Given the description of an element on the screen output the (x, y) to click on. 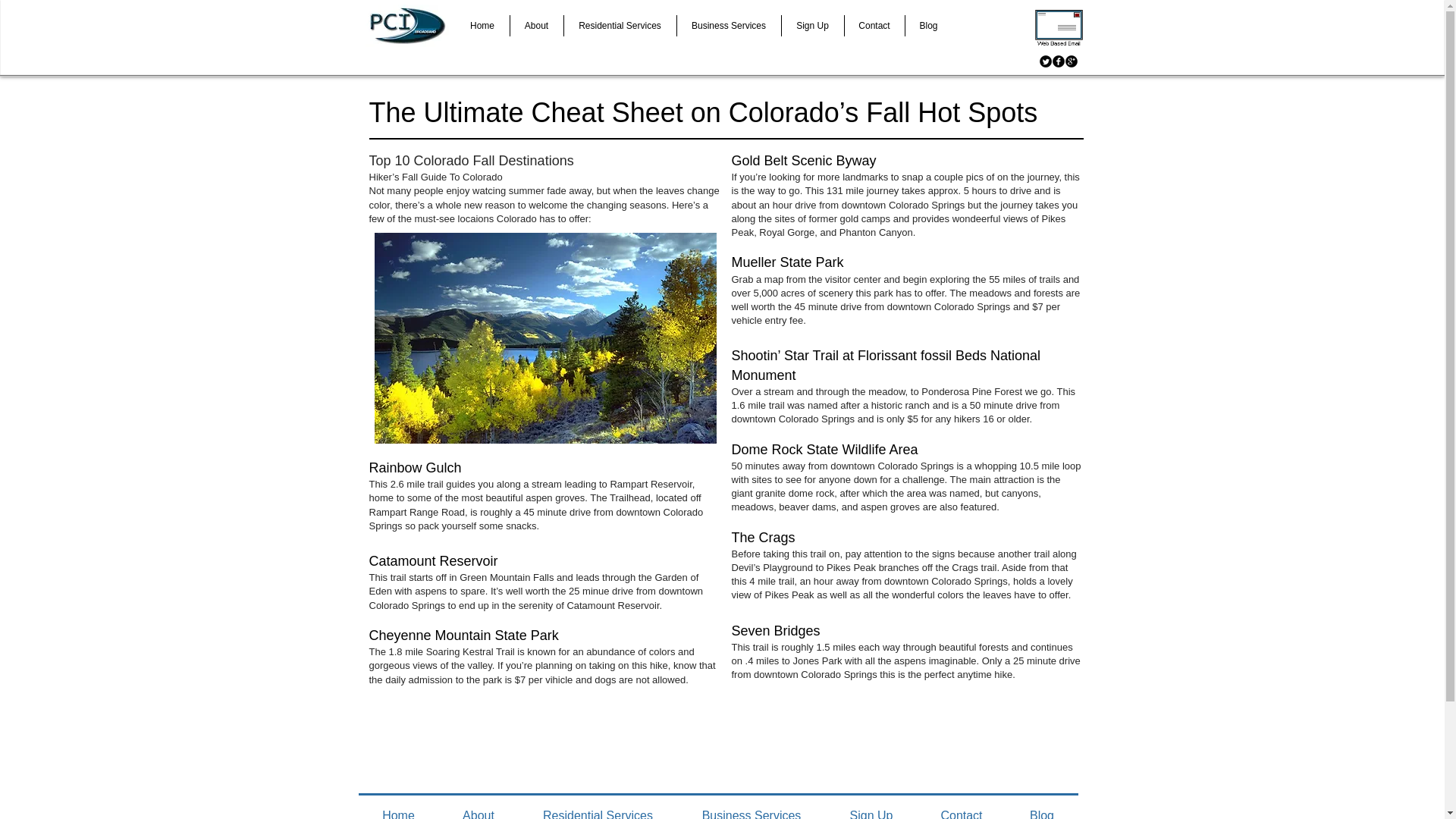
Contact (874, 25)
Residential Services (598, 807)
Sign Up (811, 25)
Contact (961, 807)
Residential Services (620, 25)
Blog (1041, 807)
About (535, 25)
Blog (928, 25)
Business Services (728, 25)
Sign Up (871, 807)
Business Services (751, 807)
About (478, 807)
Home (398, 807)
Home (481, 25)
PCI broadband (406, 25)
